Given the description of an element on the screen output the (x, y) to click on. 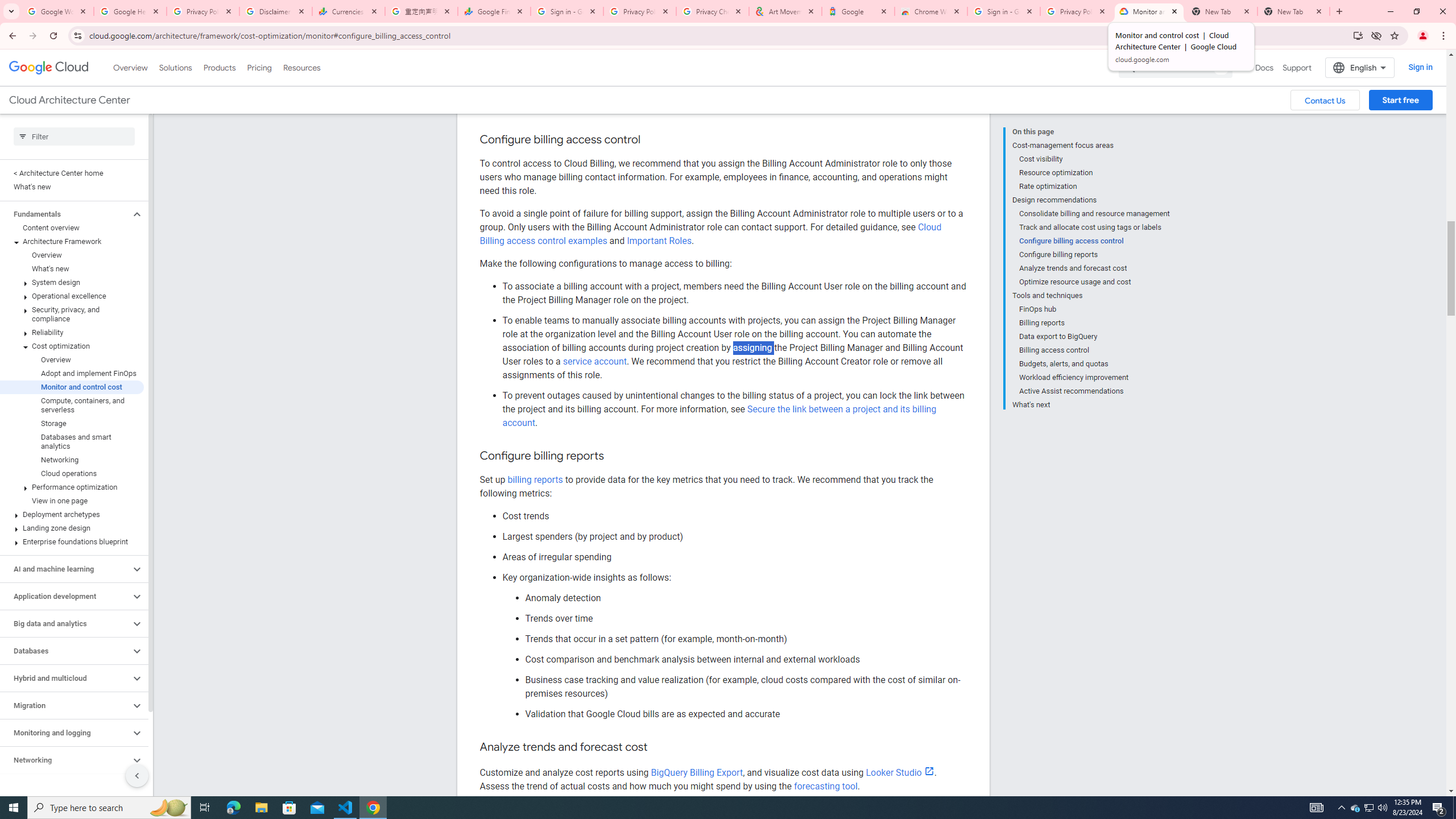
Solutions (175, 67)
Big data and analytics (64, 623)
Monitor and control cost (72, 386)
Secure the link between a project and its billing account (719, 415)
Cost-management focus areas (1090, 145)
Hybrid and multicloud (64, 678)
Configure billing access control (1094, 241)
What's next (1090, 403)
Support (1296, 67)
Deployment archetypes (72, 514)
